Given the description of an element on the screen output the (x, y) to click on. 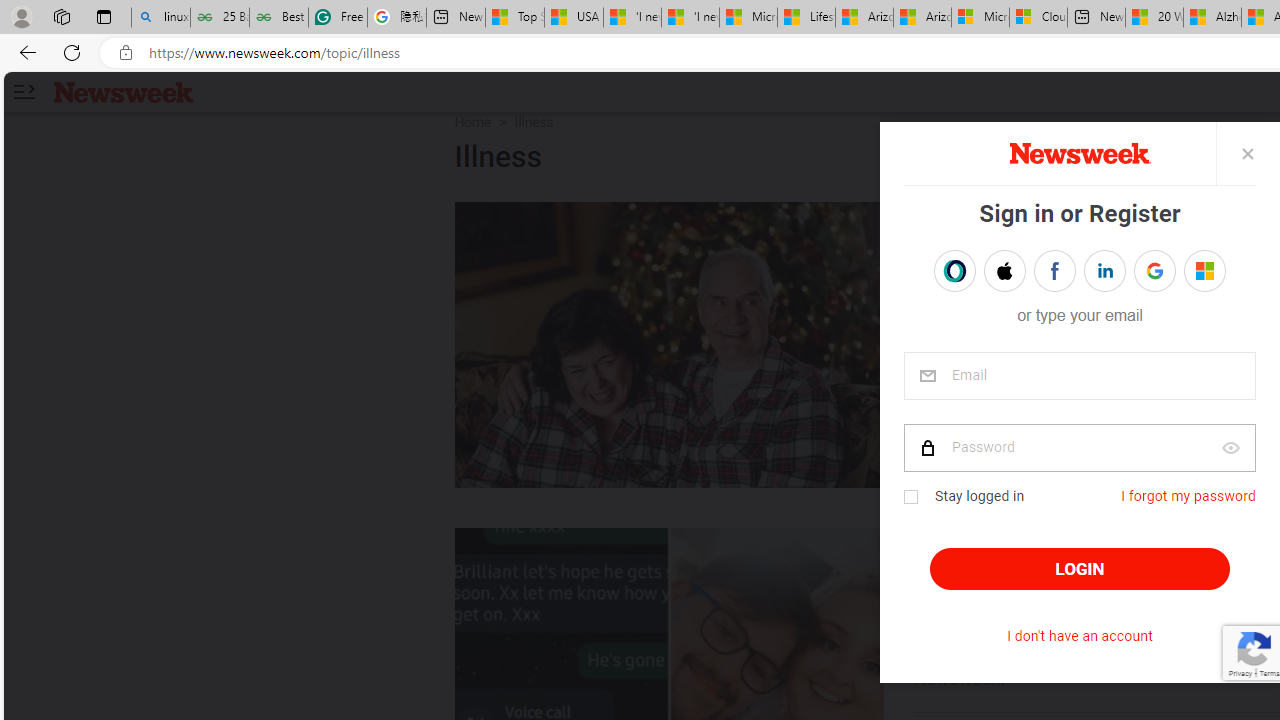
ON THE INTERNET (1014, 548)
20 Ways to Boost Your Protein Intake at Every Meal (1154, 17)
Lifestyle - MSN (806, 17)
email (1078, 376)
LOGIN (1079, 569)
